Given the description of an element on the screen output the (x, y) to click on. 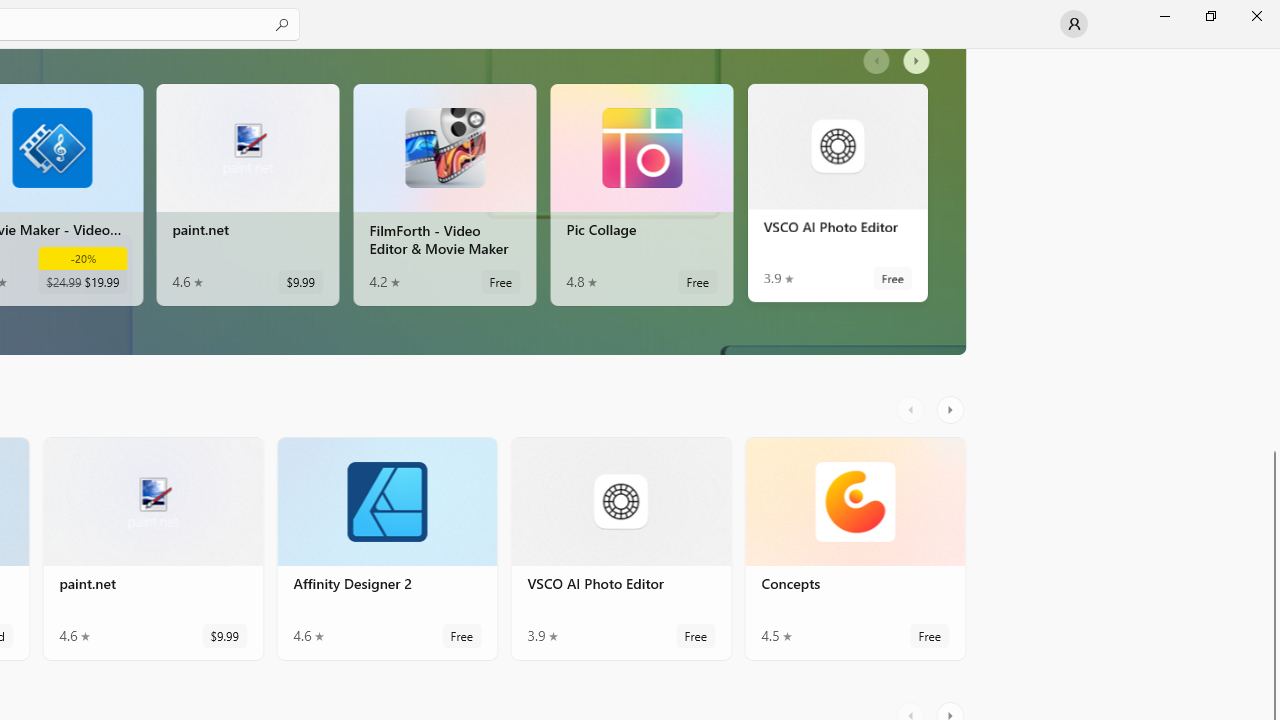
Concepts. Average rating of 4.5 out of five stars. Free   (854, 548)
Minimize Microsoft Store (1164, 15)
AutomationID: LeftScrollButton (913, 409)
Vertical Small Decrease (1272, 55)
User profile (1073, 24)
Restore Microsoft Store (1210, 15)
Close Microsoft Store (1256, 15)
Pic Collage. Average rating of 4.8 out of five stars. Free   (641, 194)
AutomationID: RightScrollButton (952, 409)
Vertical Large Decrease (1272, 254)
Screenshot 1 (836, 289)
